Given the description of an element on the screen output the (x, y) to click on. 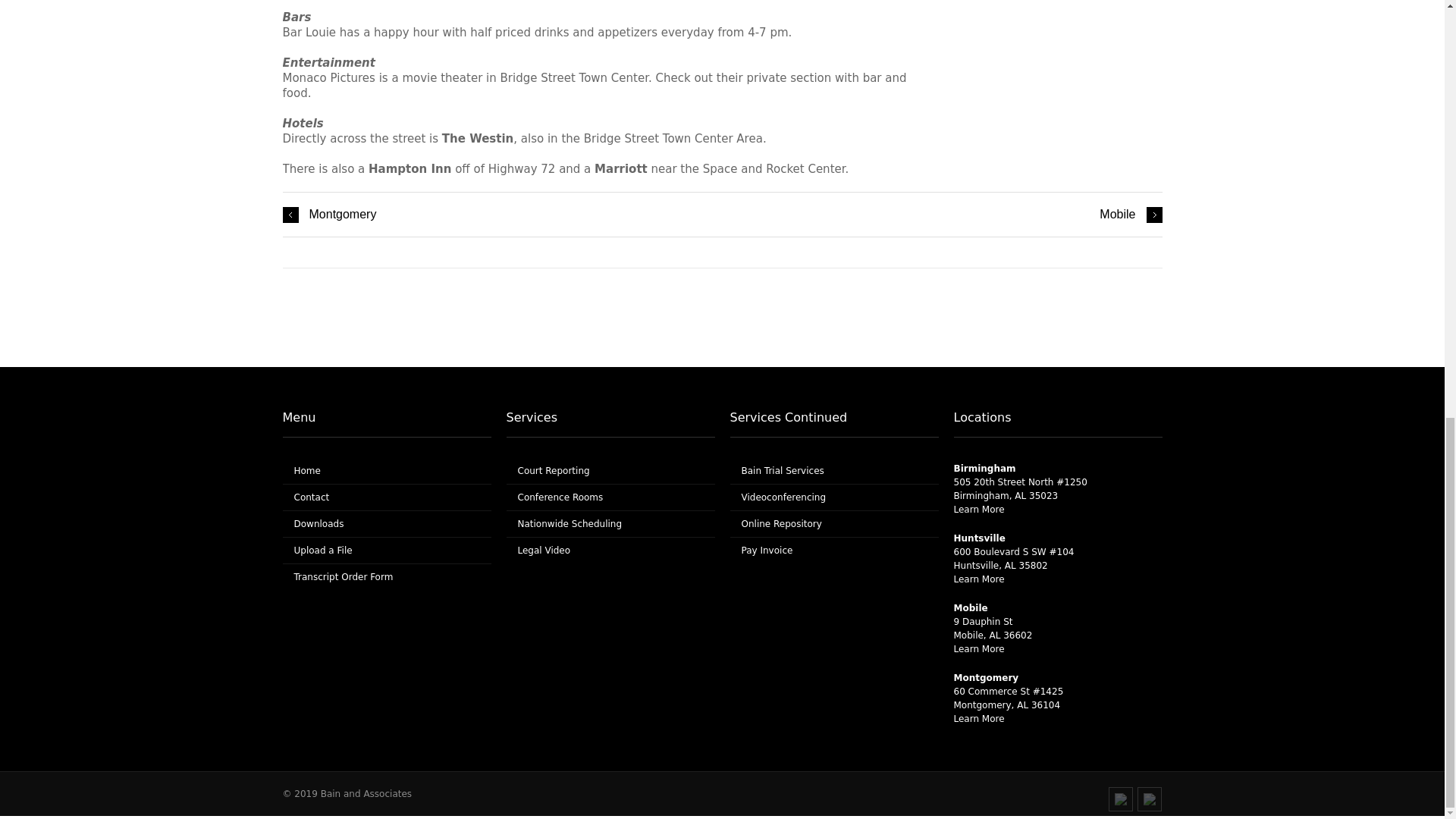
Transcript Order Form (343, 576)
Conference Rooms (559, 497)
Court Reporting (552, 470)
Home (307, 470)
Upload a File (323, 550)
Montgomery (328, 214)
Mobile (1130, 214)
Contact (312, 497)
Downloads (318, 523)
